Given the description of an element on the screen output the (x, y) to click on. 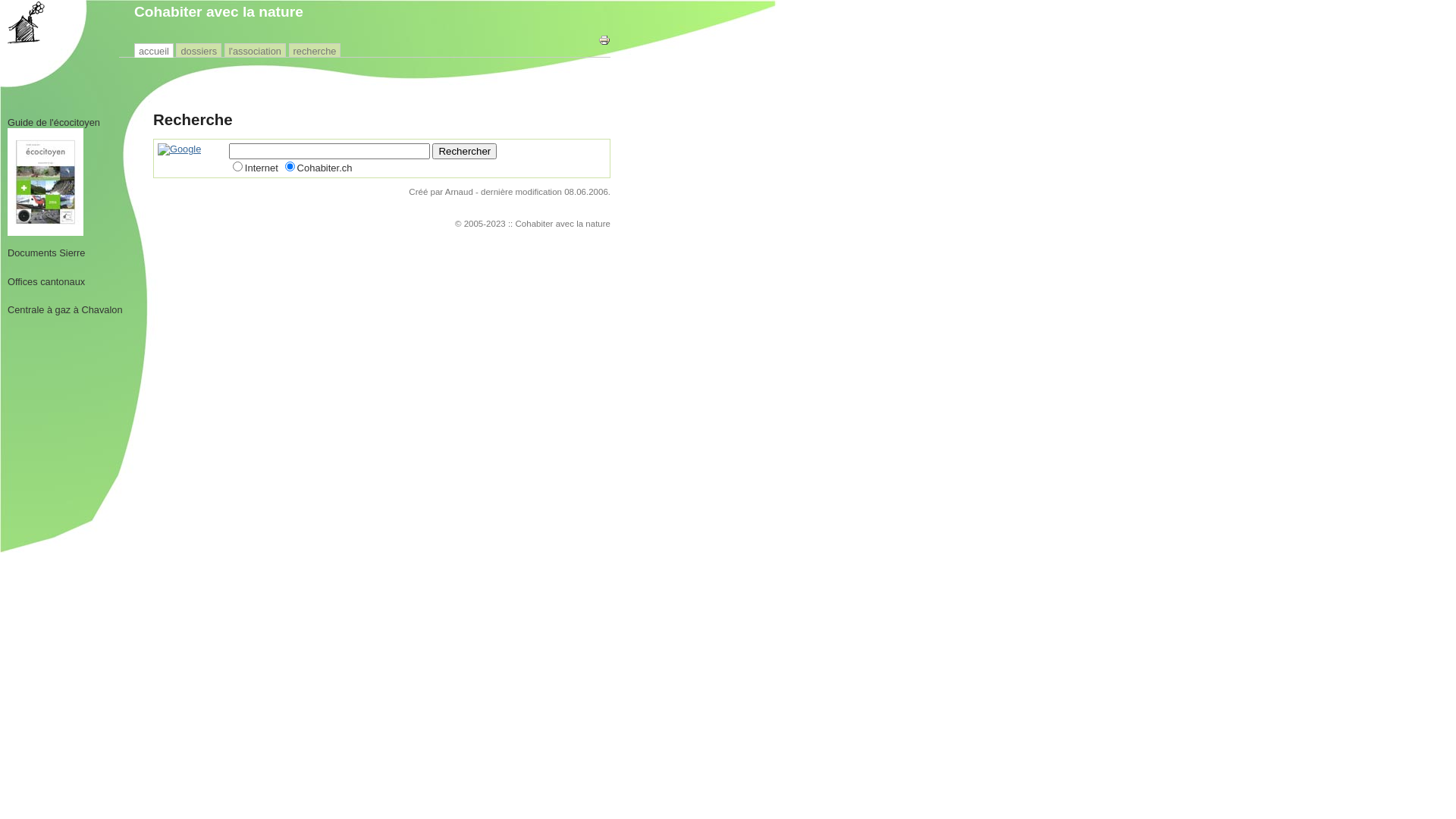
recherche Element type: text (313, 50)
Documents Sierre Element type: text (45, 252)
Imprimer cette page Element type: hover (604, 40)
Rechercher Element type: text (464, 151)
dossiers Element type: text (198, 50)
Offices cantonaux Element type: text (45, 281)
accueil Element type: text (153, 50)
l'association Element type: text (255, 50)
